Given the description of an element on the screen output the (x, y) to click on. 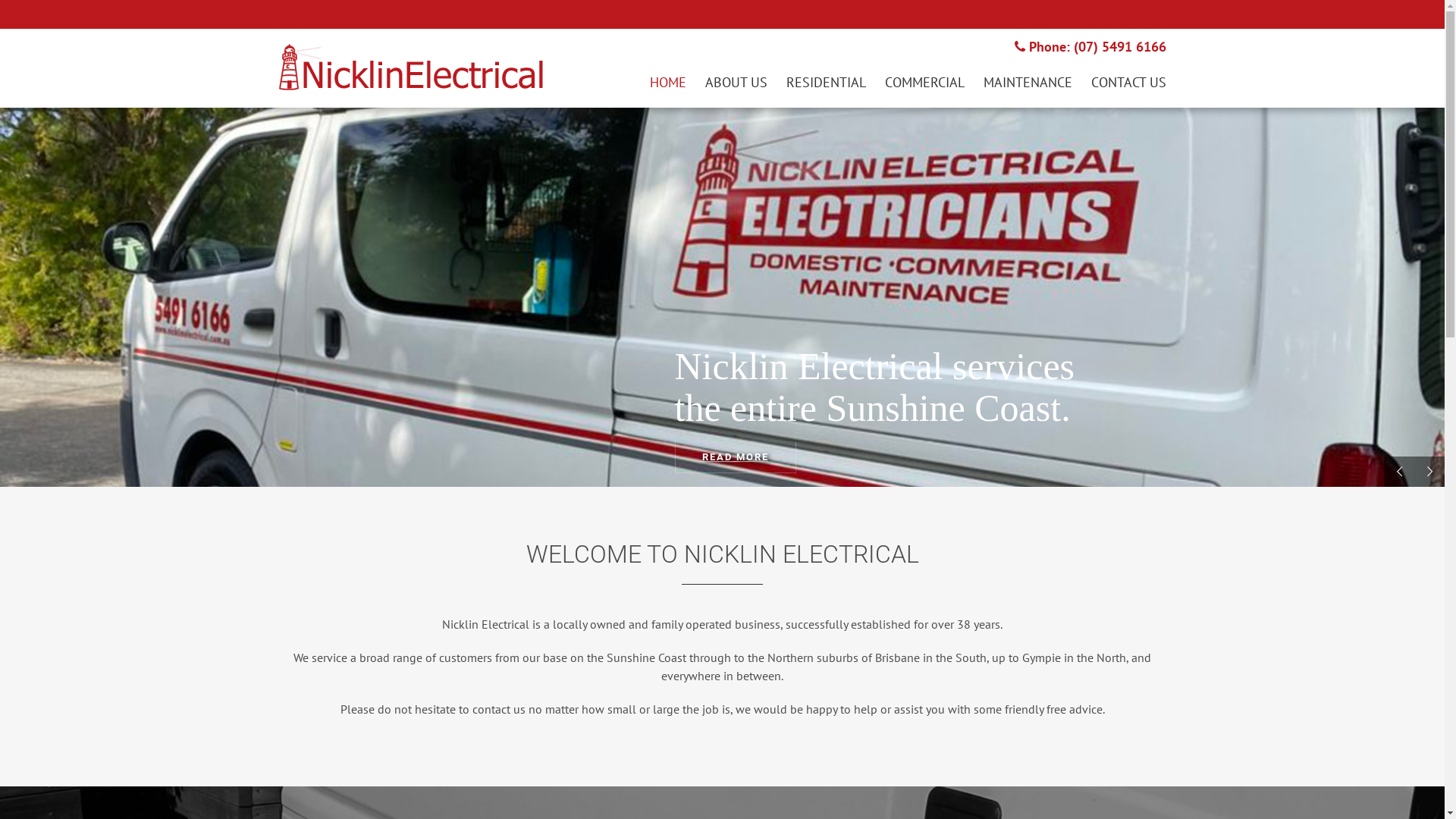
(07) 5491 6166 Element type: text (1119, 46)
HOME Element type: text (667, 82)
COMMERCIAL Element type: text (923, 82)
RESIDENTIAL Element type: text (825, 82)
READ MORE Element type: text (735, 450)
CONTACT US Element type: text (1127, 82)
MAINTENANCE Element type: text (1026, 82)
ABOUT US Element type: text (736, 82)
